Given the description of an element on the screen output the (x, y) to click on. 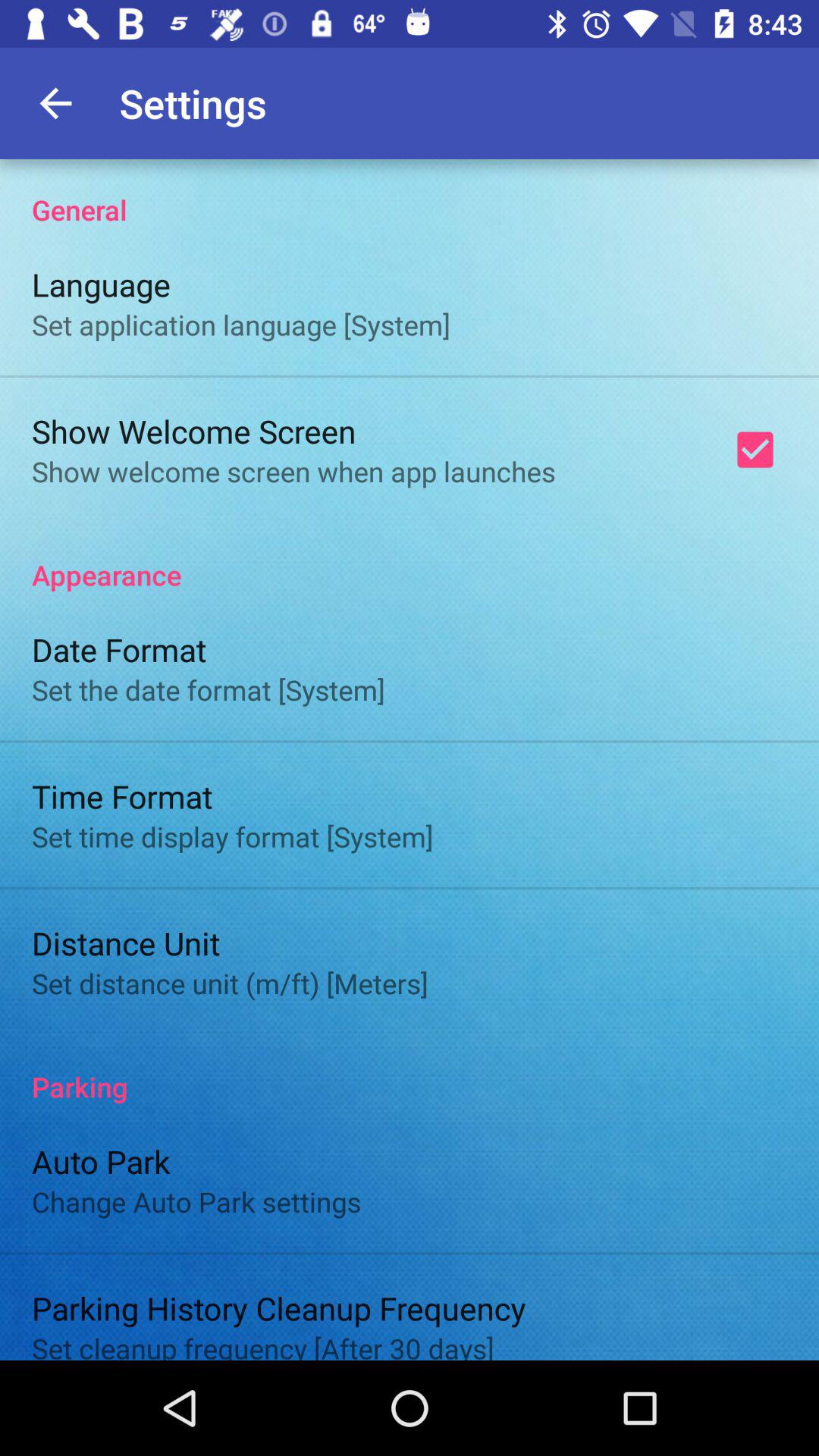
jump until parking history cleanup (278, 1307)
